Given the description of an element on the screen output the (x, y) to click on. 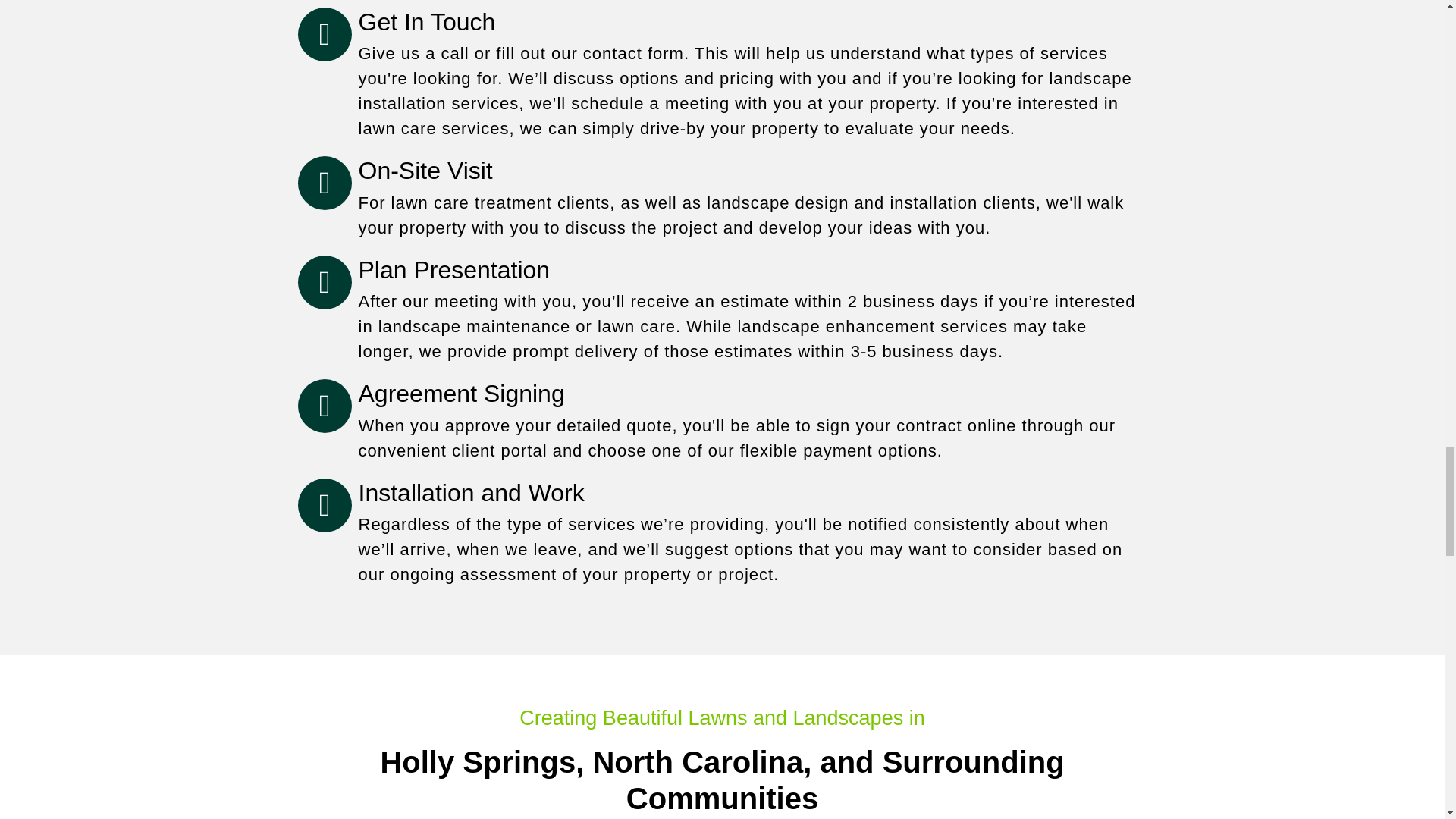
Get In Touch (426, 22)
